Given the description of an element on the screen output the (x, y) to click on. 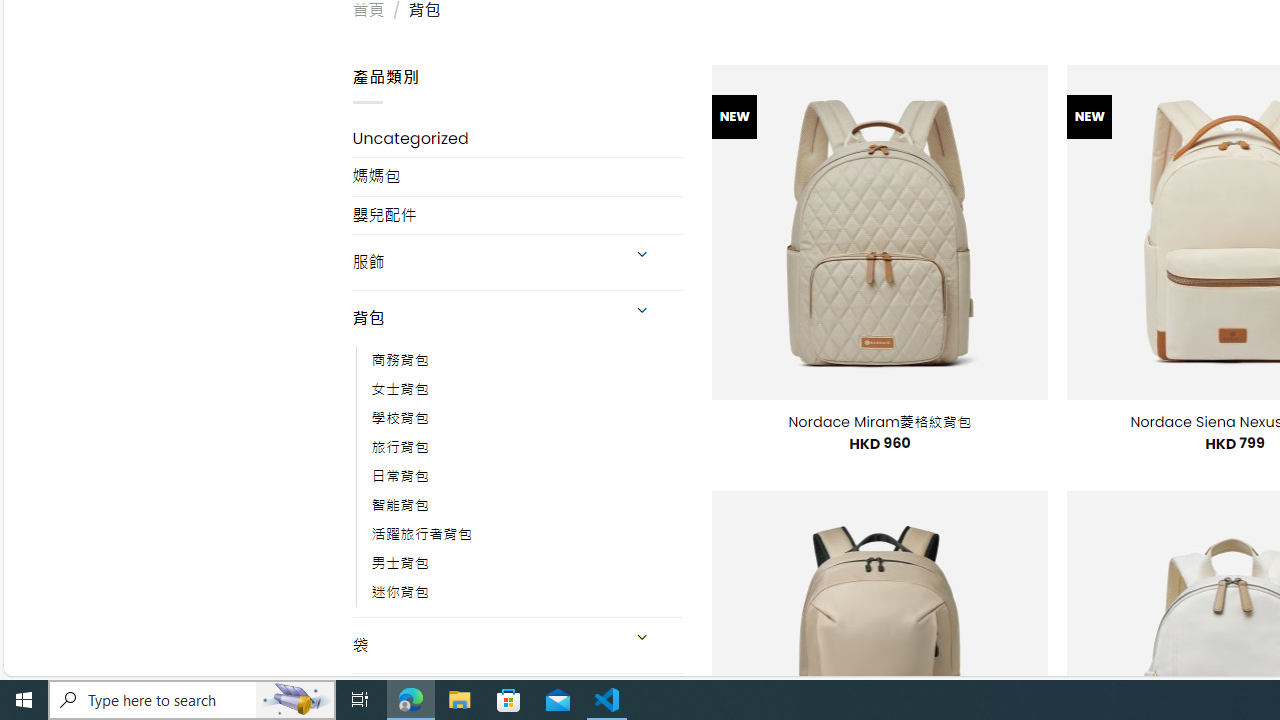
Uncategorized (517, 137)
Uncategorized (517, 137)
